Given the description of an element on the screen output the (x, y) to click on. 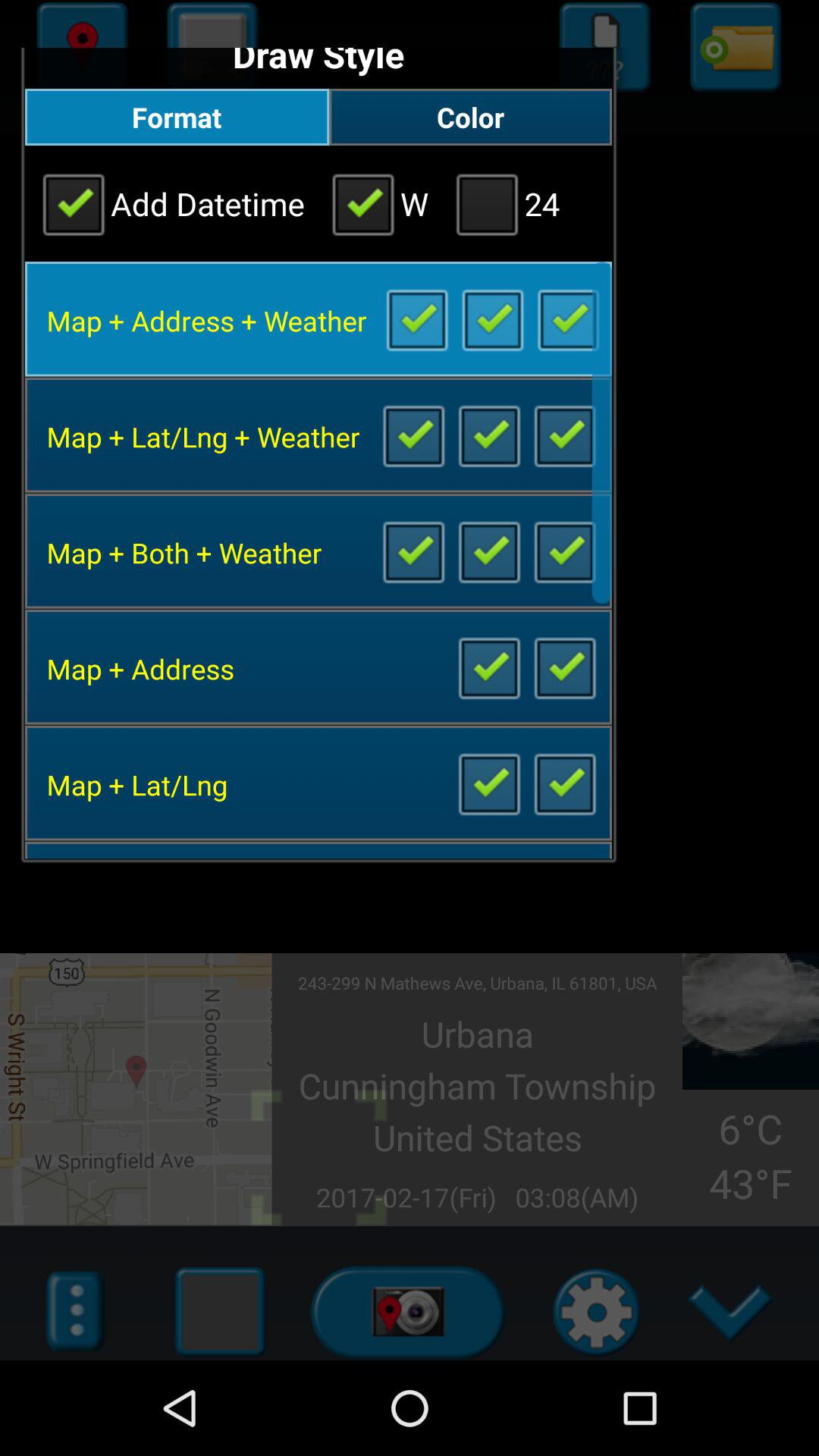
customize setting (488, 434)
